Given the description of an element on the screen output the (x, y) to click on. 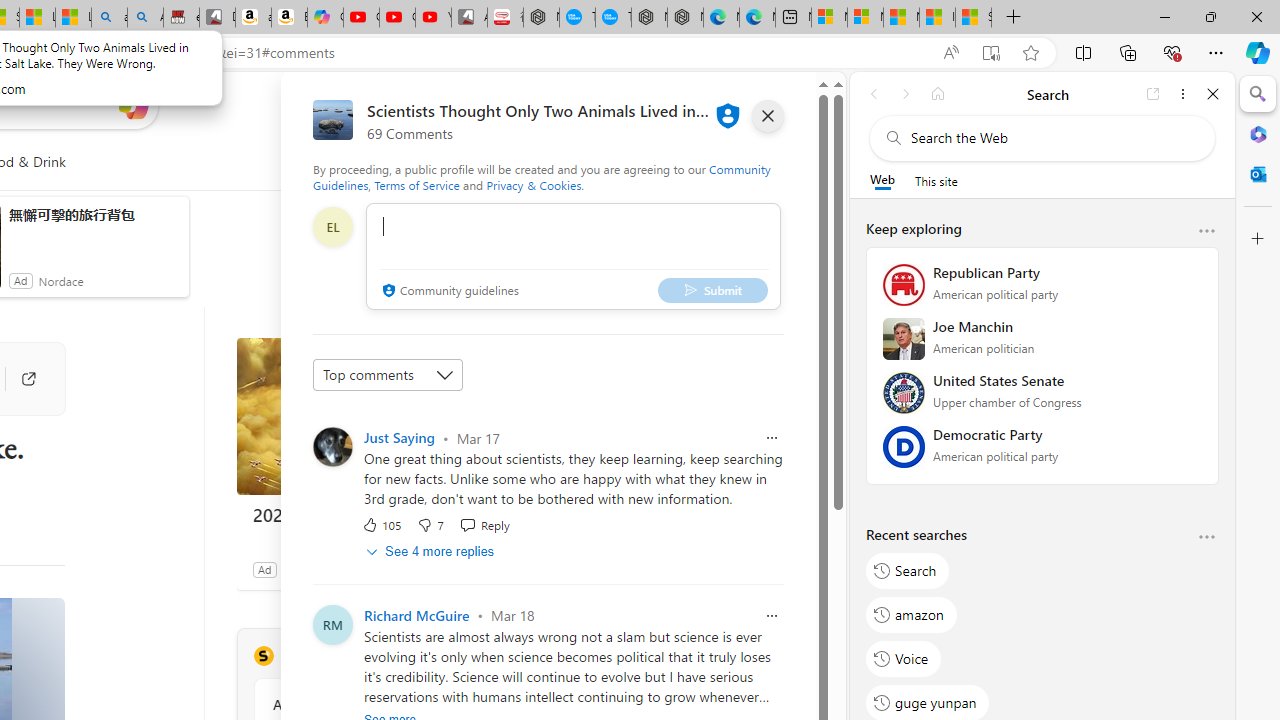
amazon - Search (109, 17)
Split screen (1083, 52)
Nordace - My Account (541, 17)
Gloom - YouTube (397, 17)
Search the web (1051, 137)
Microsoft 365 (1258, 133)
amazon.in/dp/B0CX59H5W7/?tag=gsmcom05-21 (253, 17)
Voice (904, 658)
Microsoft rewards (707, 105)
Customize (1258, 239)
To get missing image descriptions, open the context menu. (449, 162)
Enter Immersive Reader (F9) (991, 53)
